Given the description of an element on the screen output the (x, y) to click on. 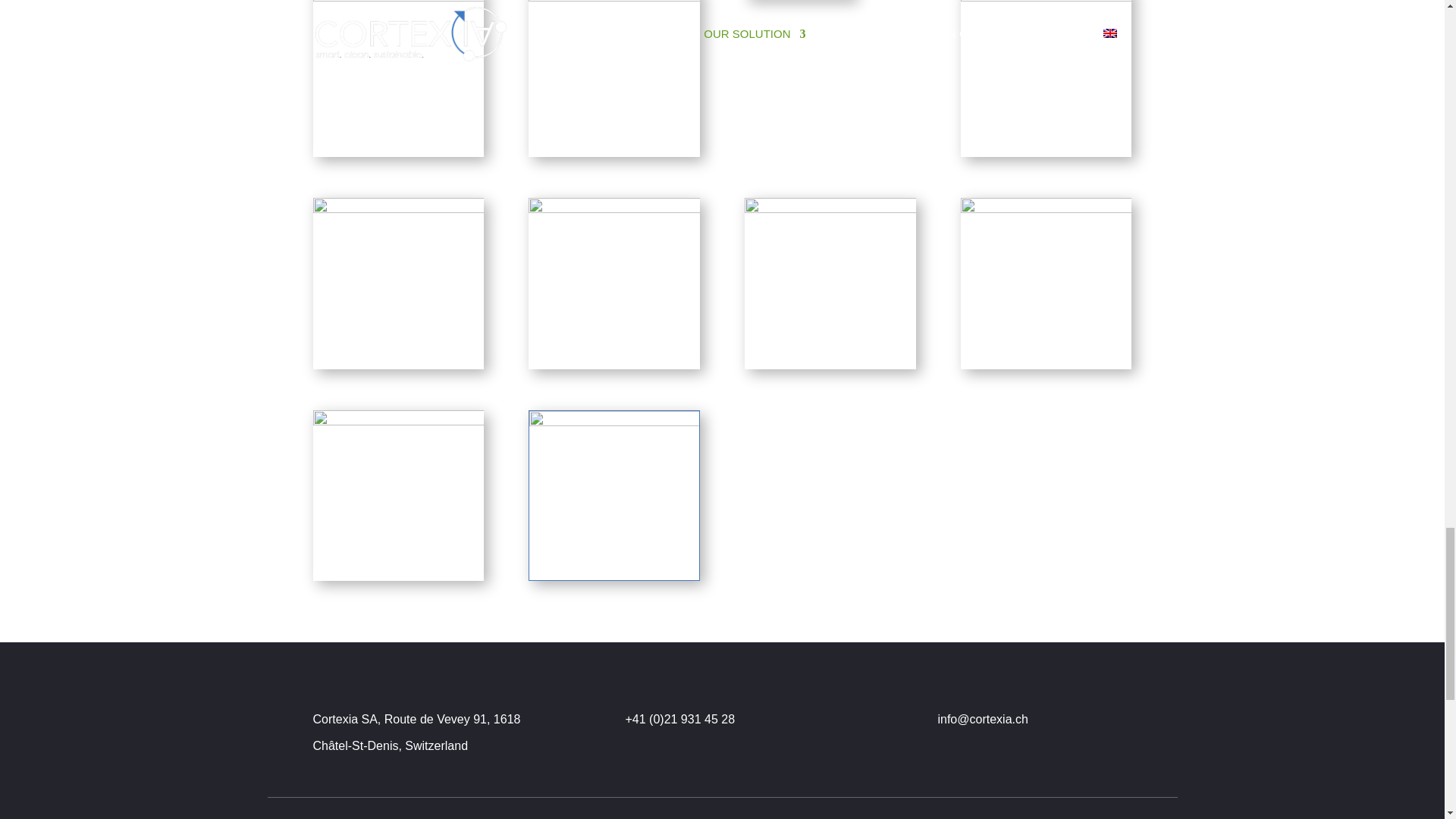
Logo-Microsoft (398, 495)
